Given the description of an element on the screen output the (x, y) to click on. 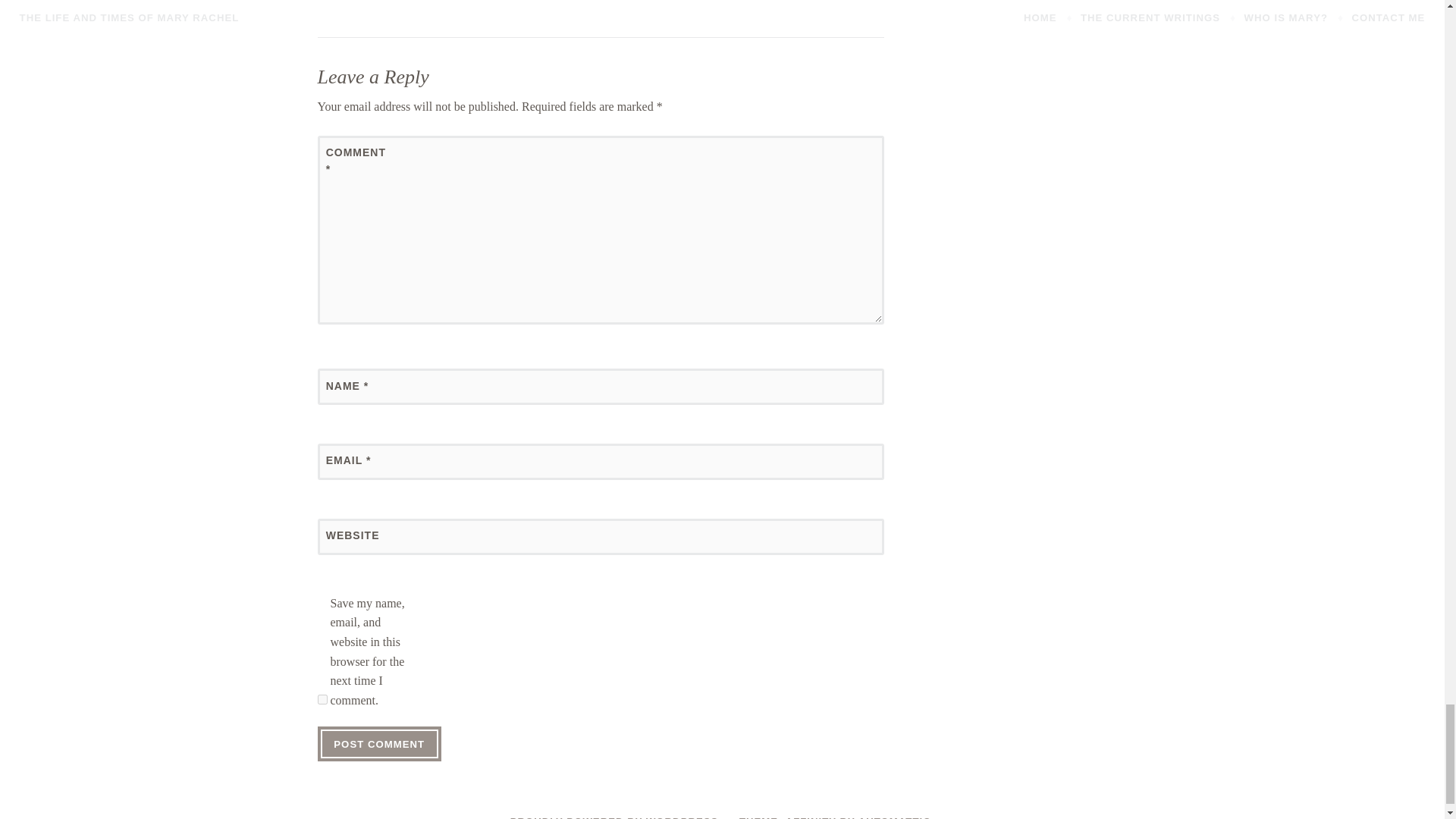
Post Comment (379, 743)
Post Comment (379, 743)
yes (321, 699)
